Given the description of an element on the screen output the (x, y) to click on. 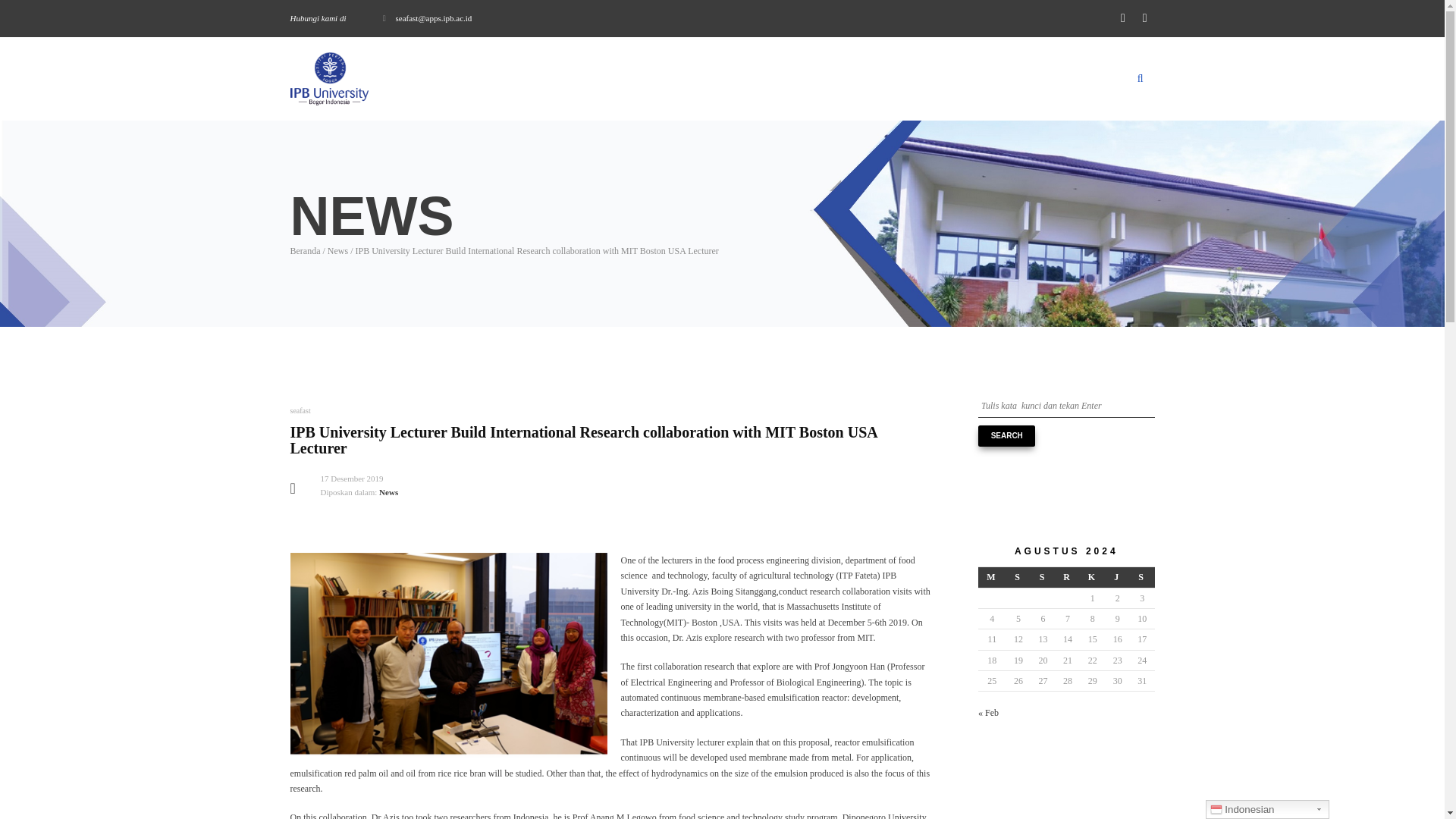
Beranda (304, 250)
seafast (299, 410)
Seafast Center (328, 78)
News (337, 250)
Search (1006, 435)
Search (1006, 435)
